Given the description of an element on the screen output the (x, y) to click on. 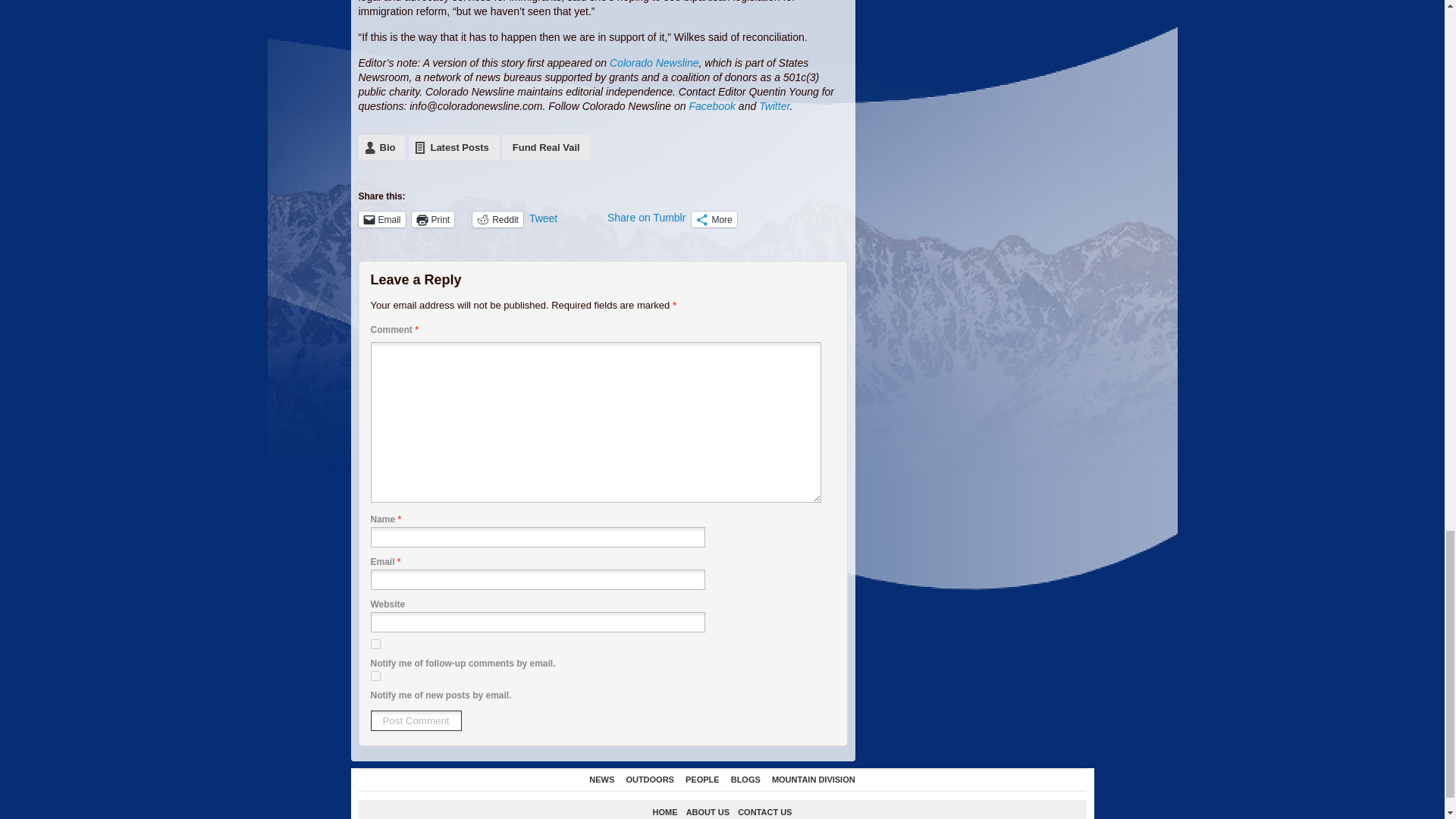
Email (381, 219)
subscribe (374, 644)
Reddit (496, 219)
Tweet (565, 218)
Post Comment (415, 720)
Share on Tumblr (646, 218)
Click to print (433, 219)
More (713, 219)
Fund Real Vail (545, 147)
Share on Tumblr (646, 218)
